Given the description of an element on the screen output the (x, y) to click on. 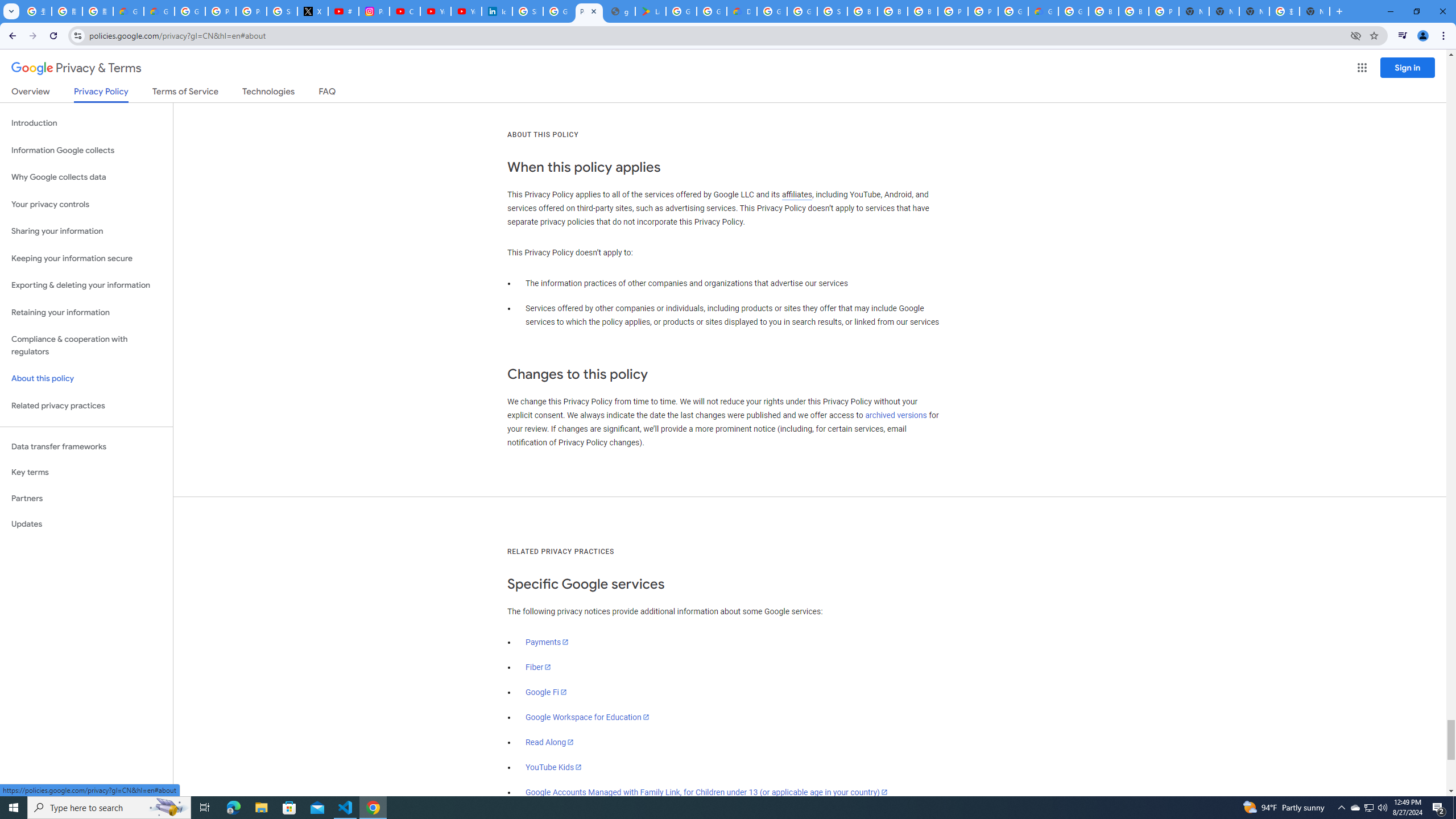
Related privacy practices (86, 405)
YouTube Culture & Trends - YouTube Top 10, 2021 (465, 11)
X (312, 11)
Fiber (538, 666)
